Given the description of an element on the screen output the (x, y) to click on. 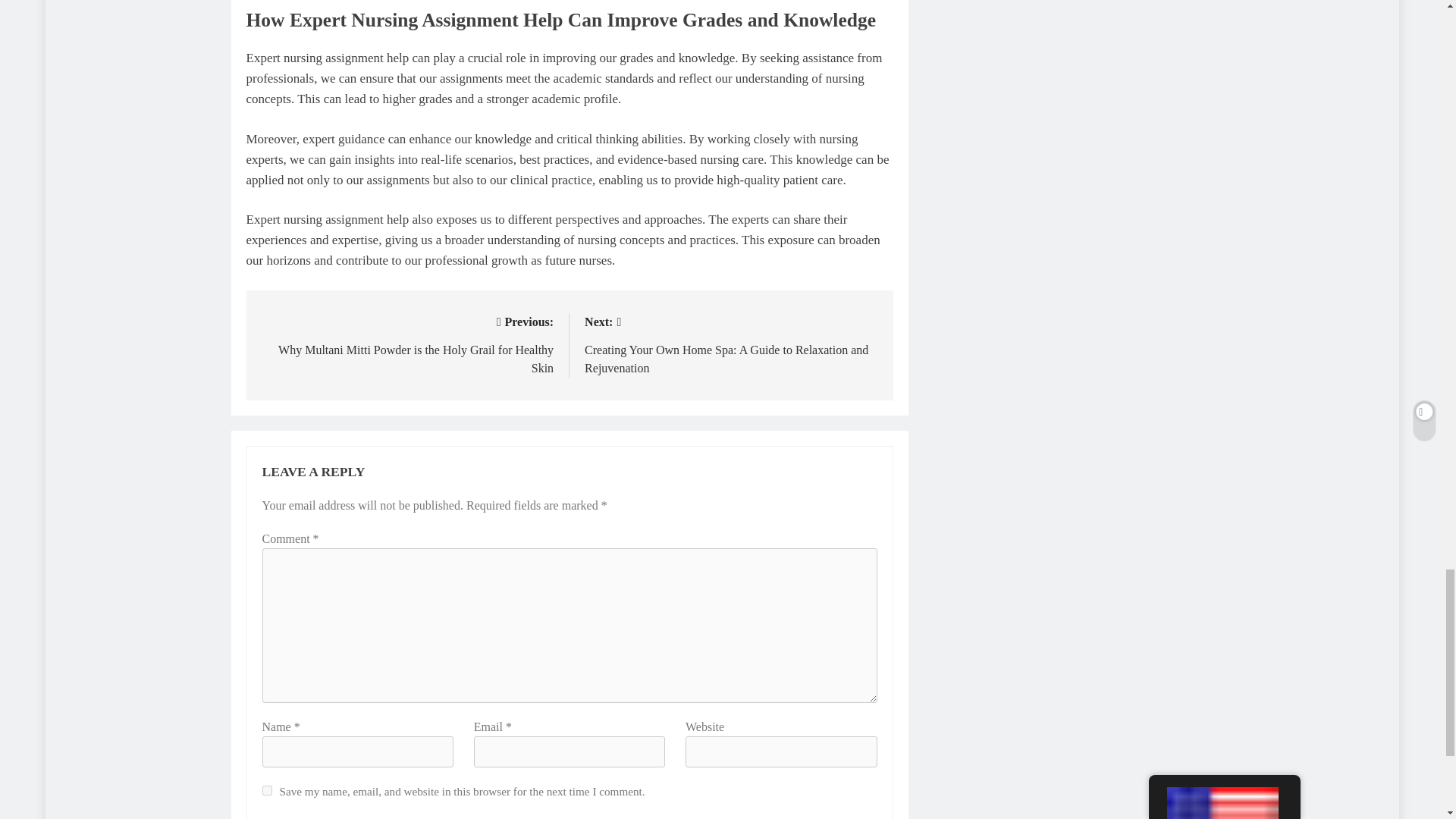
yes (267, 790)
